Given the description of an element on the screen output the (x, y) to click on. 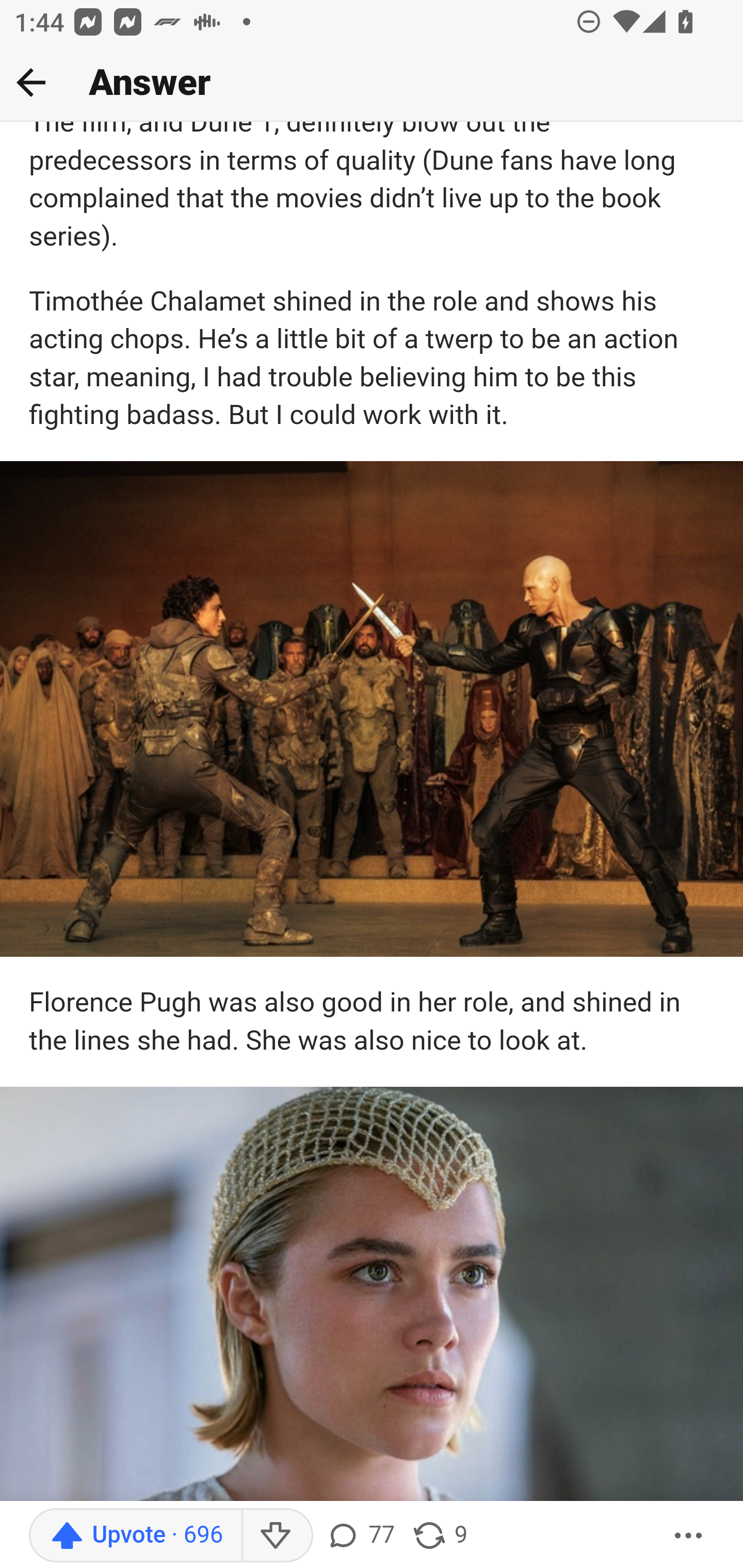
Back Answer (371, 82)
Back (30, 82)
main-qimg-cccb61f29d39ea515acf9925c6e5d1be (371, 709)
main-qimg-25b8b1f2e44b4cd405b9f337c8cbc1ea (371, 1295)
Upvote (135, 1535)
Downvote (277, 1535)
77 comments (360, 1535)
9 shares (439, 1535)
More (688, 1535)
